Given the description of an element on the screen output the (x, y) to click on. 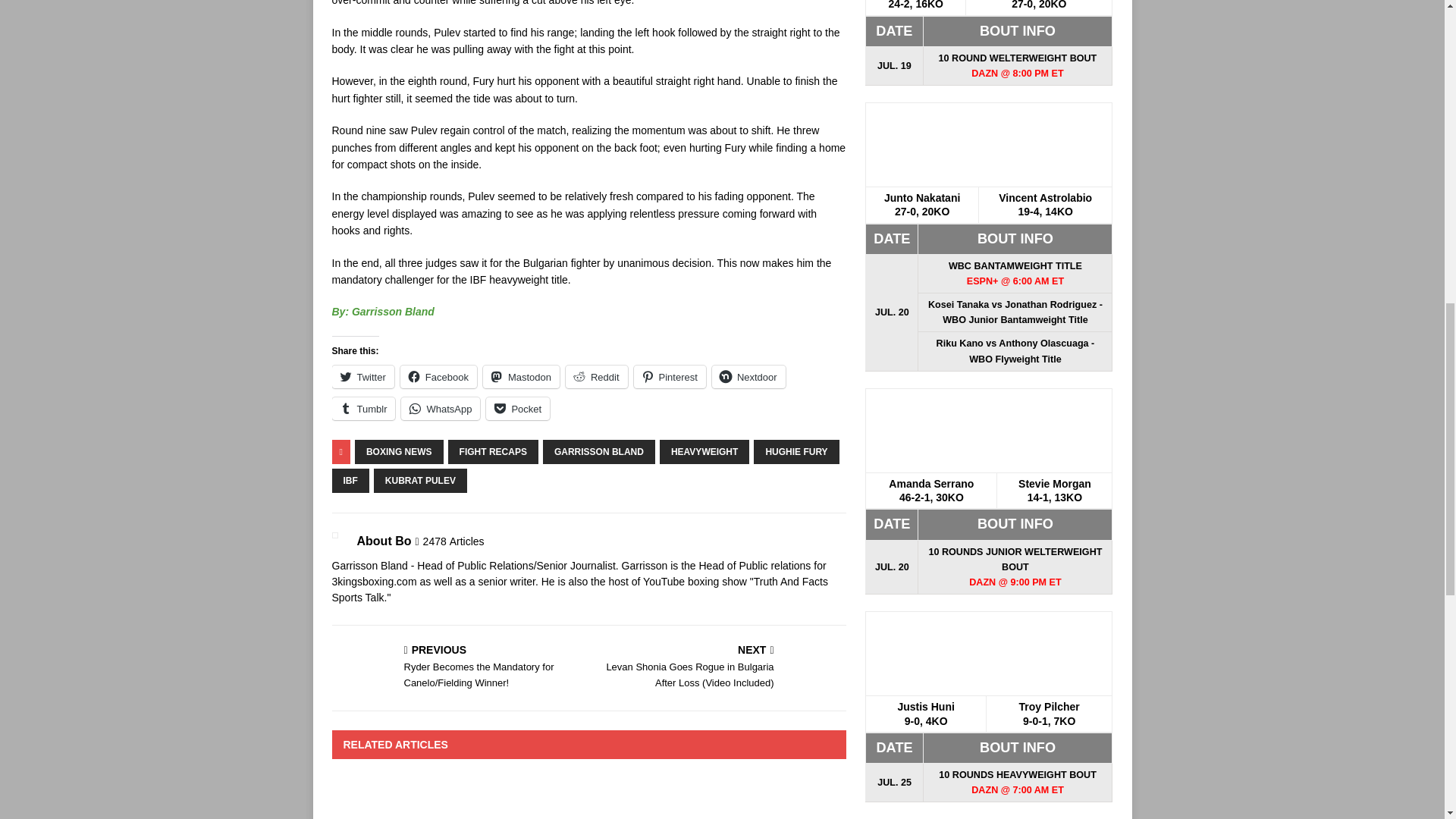
Twitter (362, 376)
Mastodon (521, 376)
Facebook (438, 376)
Reddit (596, 376)
